Given the description of an element on the screen output the (x, y) to click on. 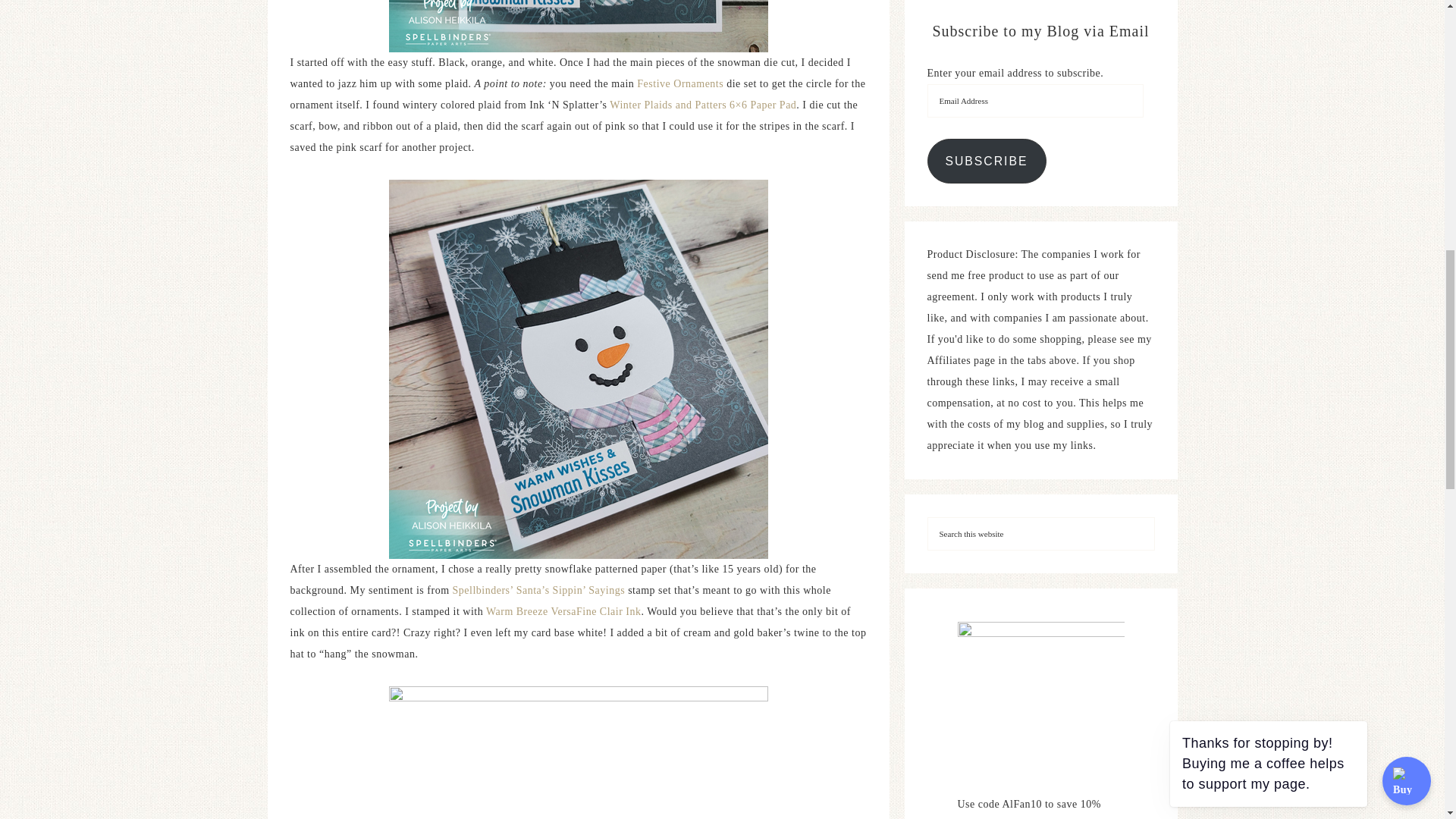
SUBSCRIBE (985, 160)
Warm Breeze VersaFine Clair Ink (564, 611)
Festive Ornaments (680, 83)
